Given the description of an element on the screen output the (x, y) to click on. 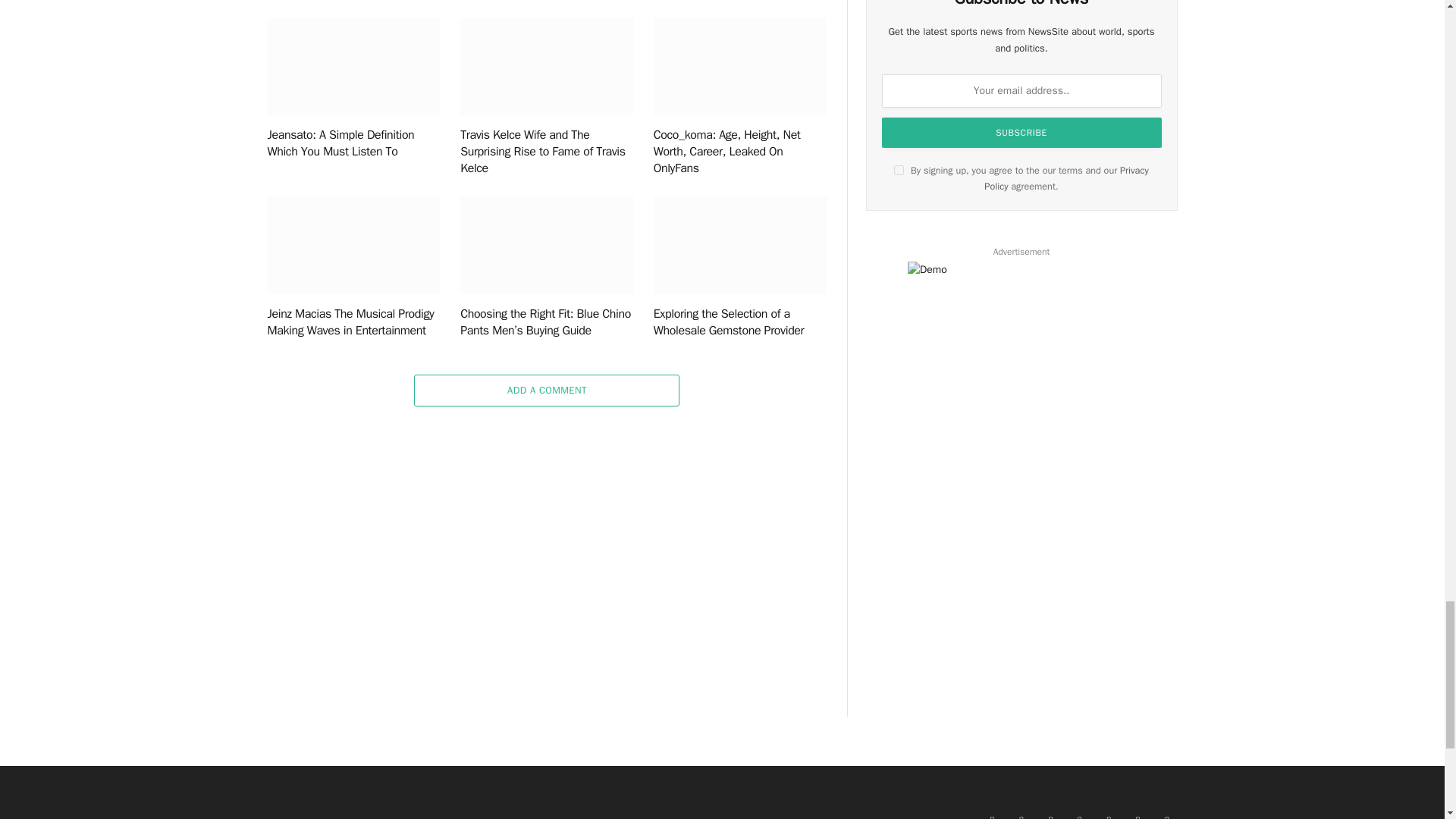
Subscribe (1021, 132)
on (898, 170)
Jeansato: A Simple Definition Which You Must Listen To (353, 67)
